Given the description of an element on the screen output the (x, y) to click on. 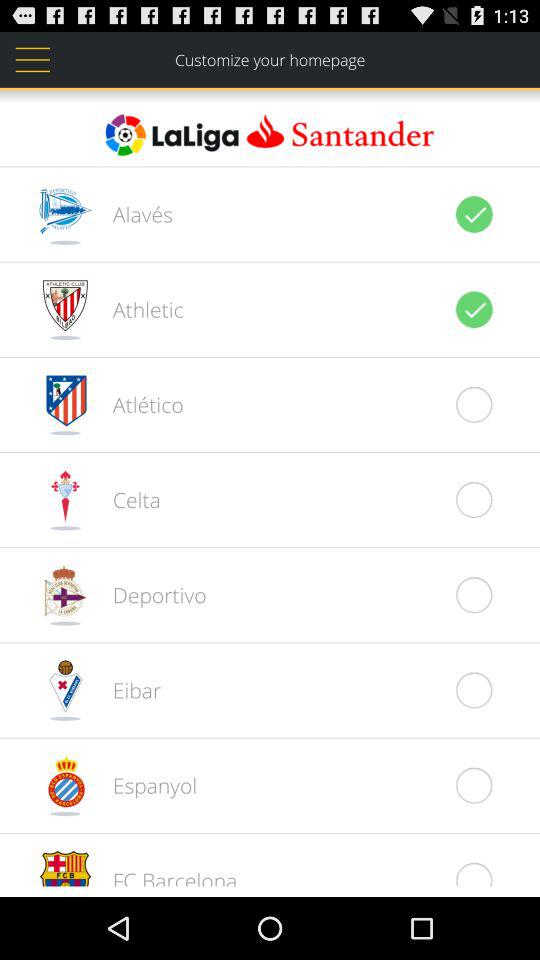
swipe until athletic app (137, 309)
